Given the description of an element on the screen output the (x, y) to click on. 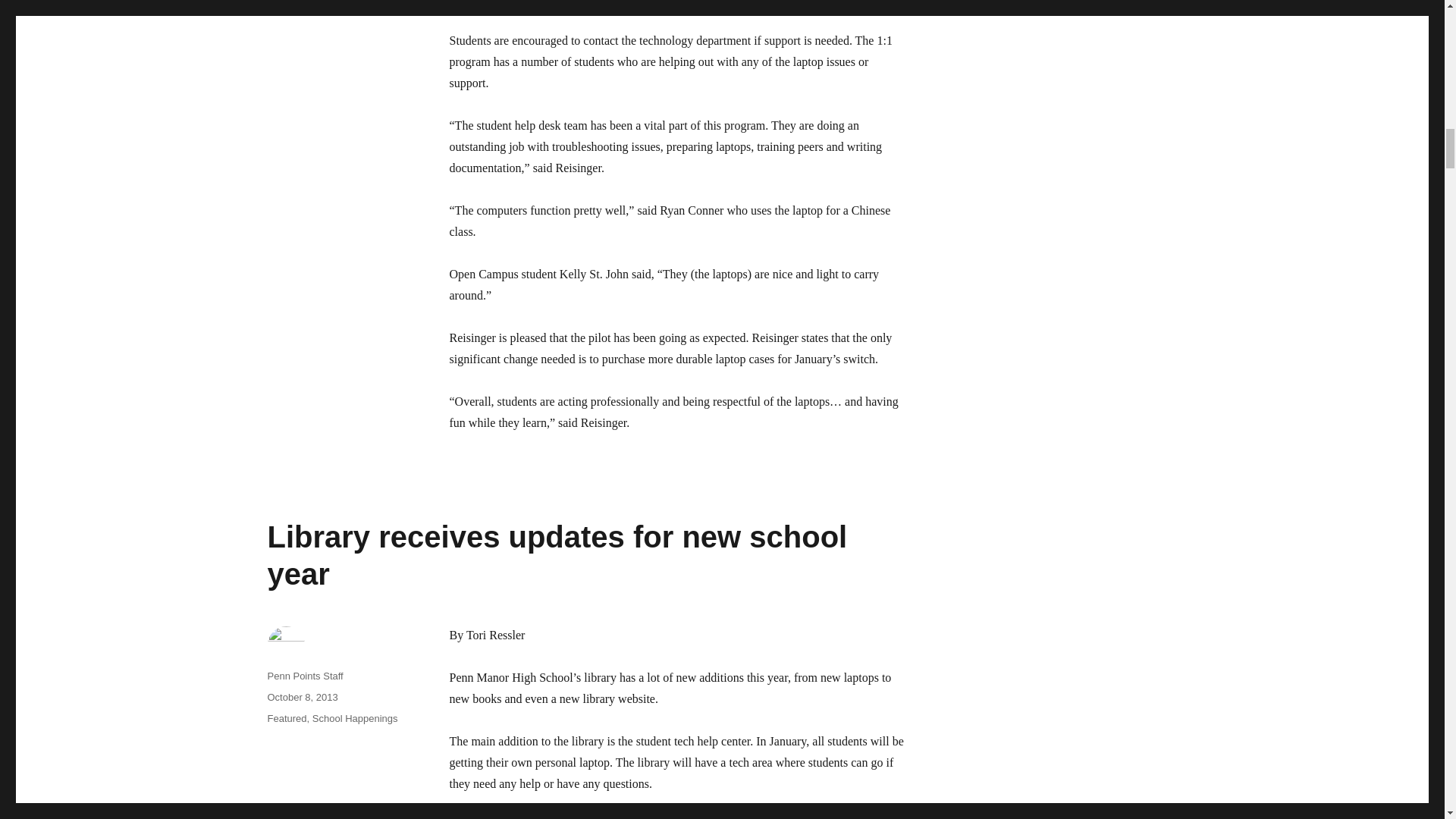
Featured (285, 717)
Library receives updates for new school year (556, 555)
Penn Points Staff (304, 675)
October 8, 2013 (301, 696)
School Happenings (355, 717)
